Given the description of an element on the screen output the (x, y) to click on. 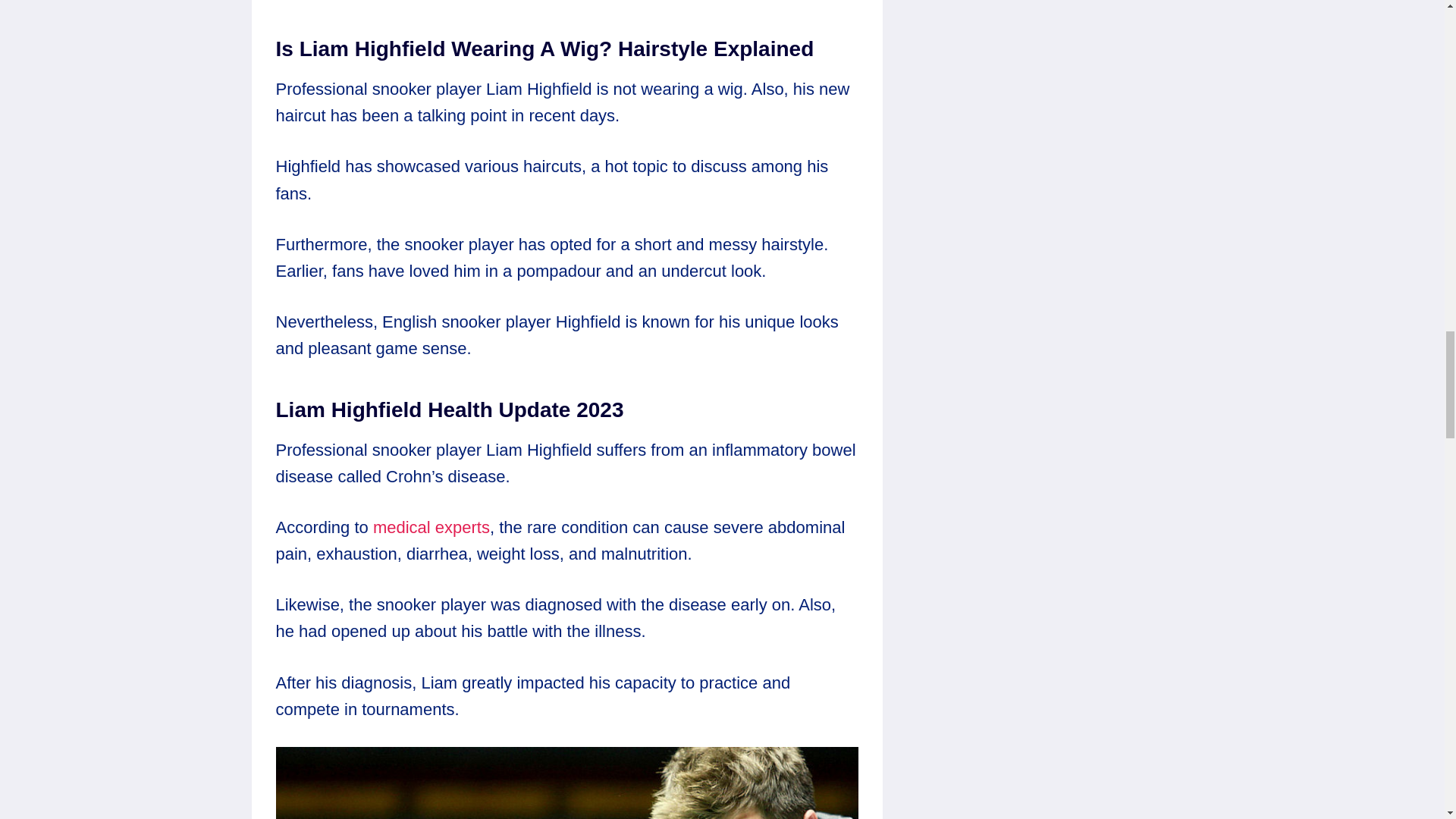
medical experts (430, 527)
